Given the description of an element on the screen output the (x, y) to click on. 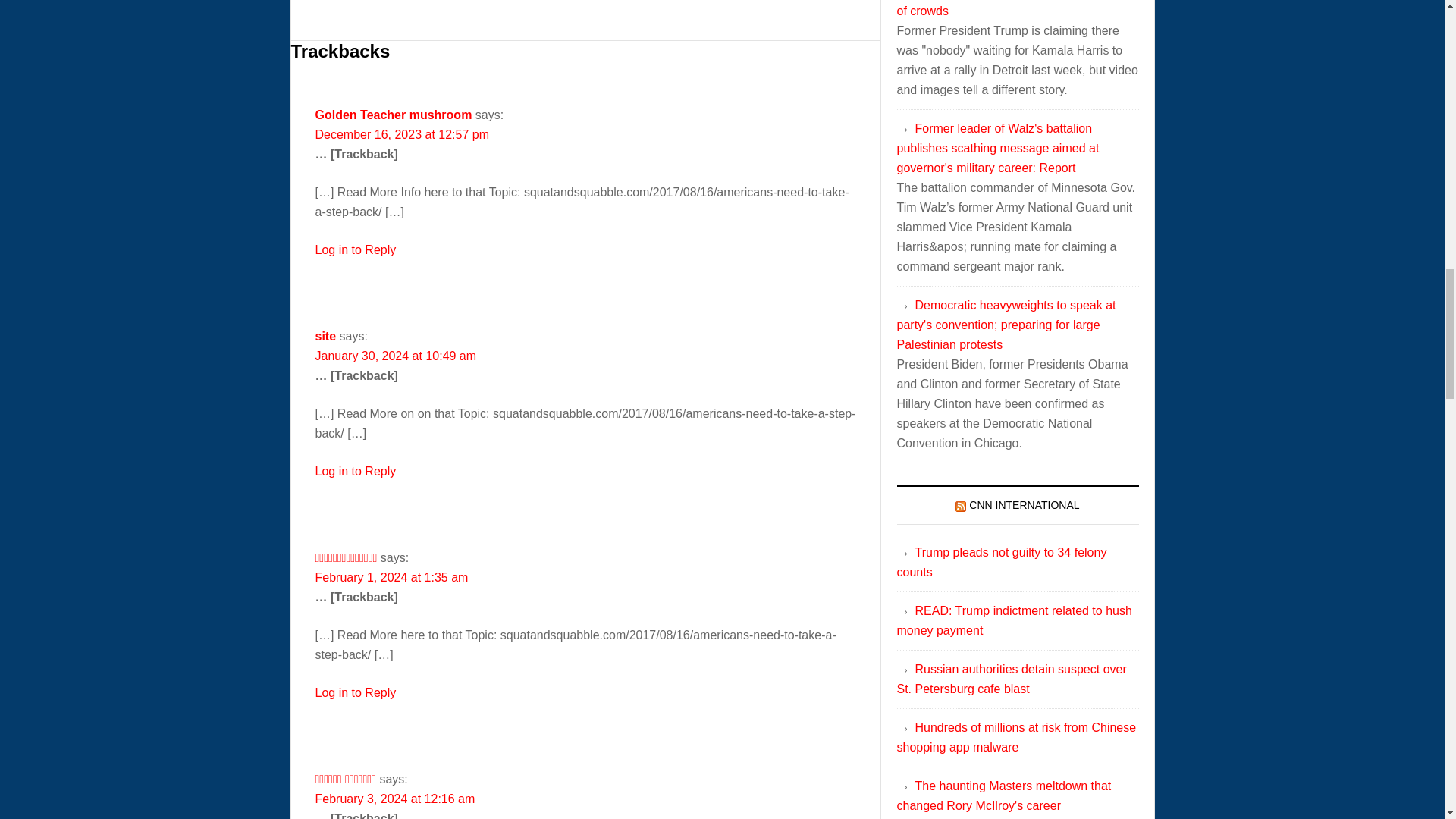
January 30, 2024 at 10:49 am (396, 355)
December 16, 2023 at 12:57 pm (402, 133)
Log in to Reply (355, 249)
Log in to Reply (355, 471)
February 3, 2024 at 12:16 am (395, 798)
Golden Teacher mushroom (393, 114)
USA POLITICS (417, 0)
Log in to Reply (355, 692)
February 1, 2024 at 1:35 am (391, 576)
site (325, 336)
